Given the description of an element on the screen output the (x, y) to click on. 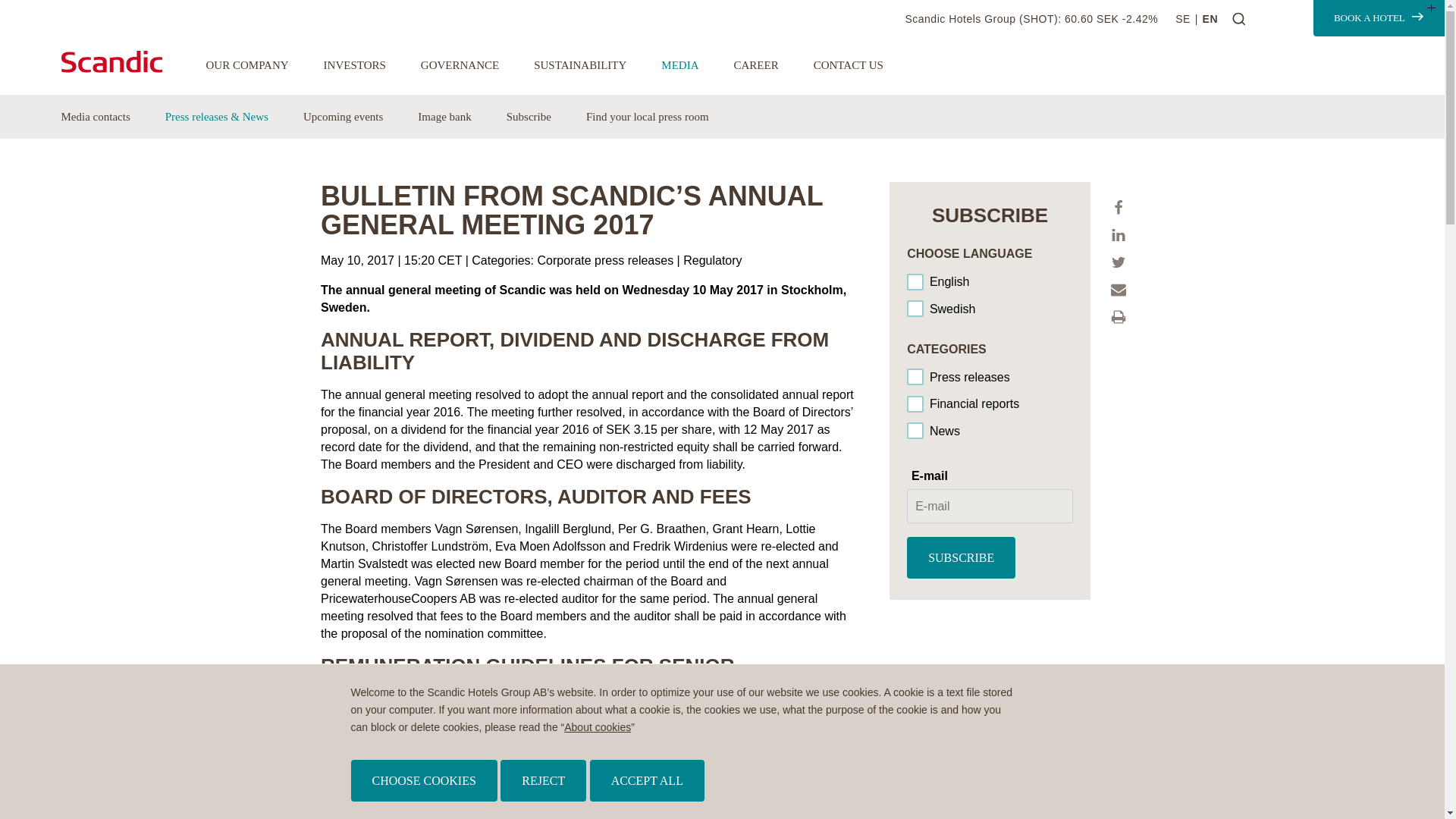
LinkedIn (1117, 234)
OUR COMPANY (247, 65)
Logotype (124, 63)
3t443wbvvw (915, 431)
Print (1117, 316)
SE (1188, 19)
en (915, 282)
Logotype (111, 61)
dfw34g43 (915, 404)
INVESTORS (354, 65)
